Given the description of an element on the screen output the (x, y) to click on. 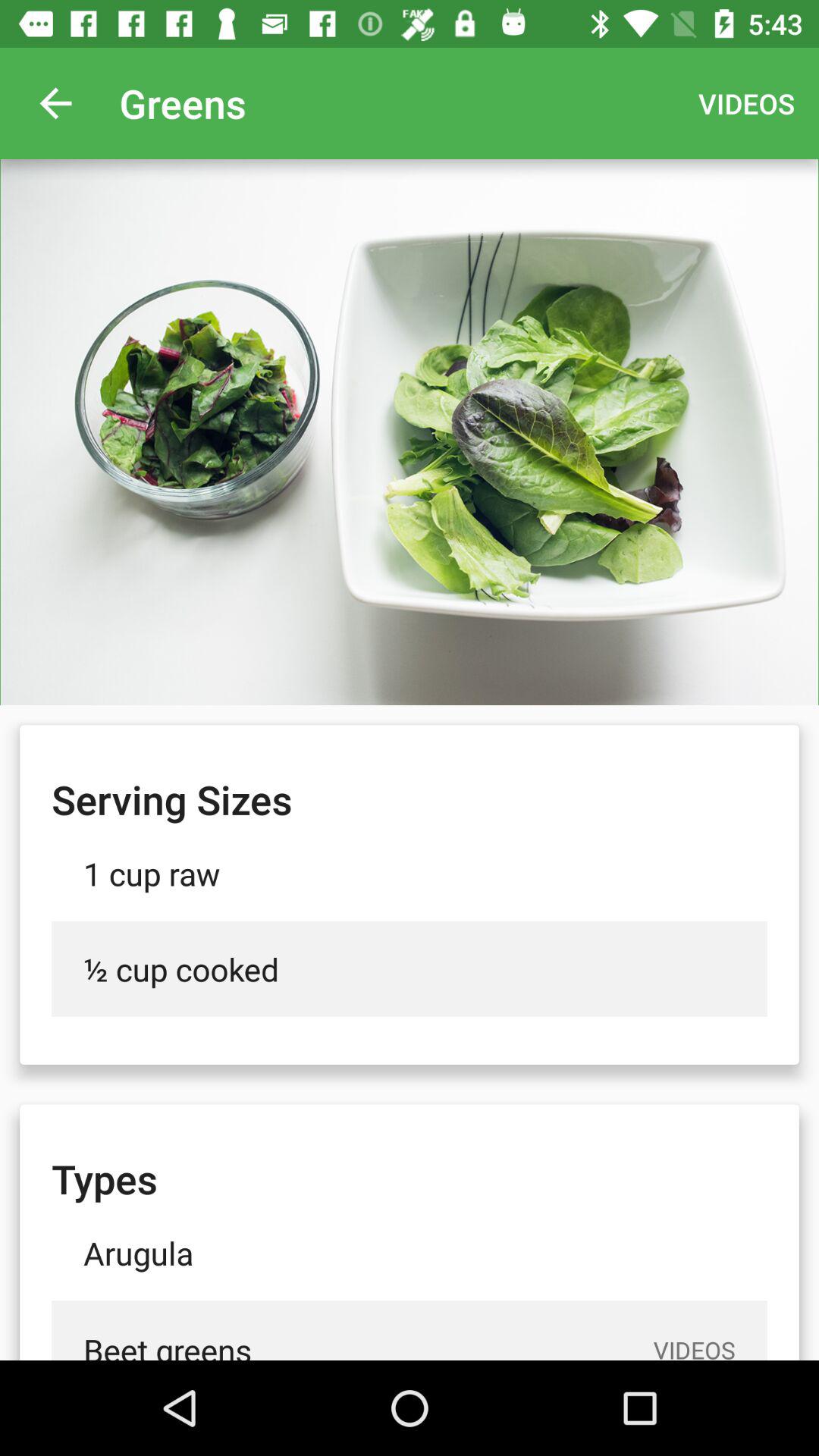
open app next to the greens (55, 103)
